Given the description of an element on the screen output the (x, y) to click on. 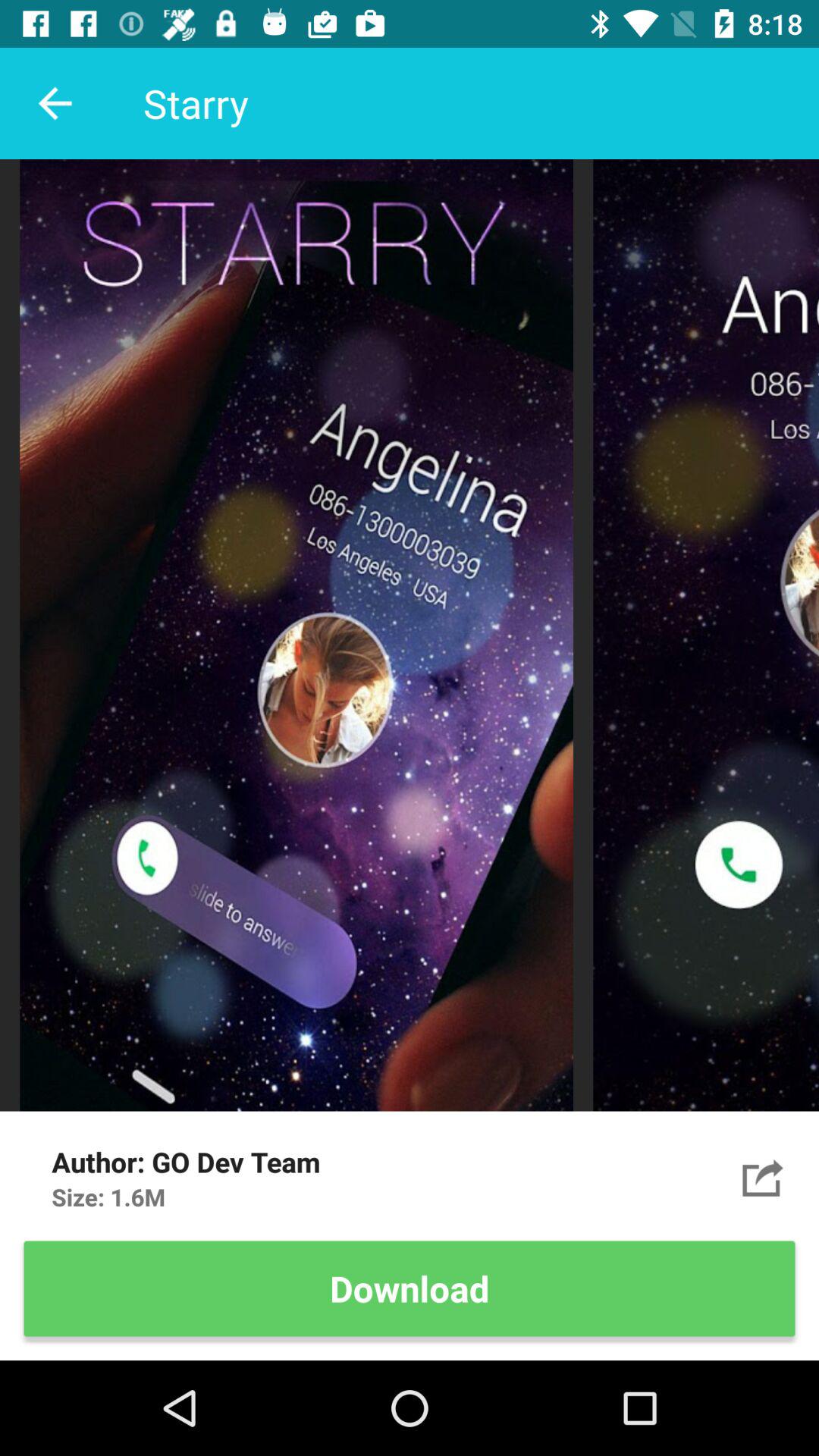
forward (763, 1177)
